Given the description of an element on the screen output the (x, y) to click on. 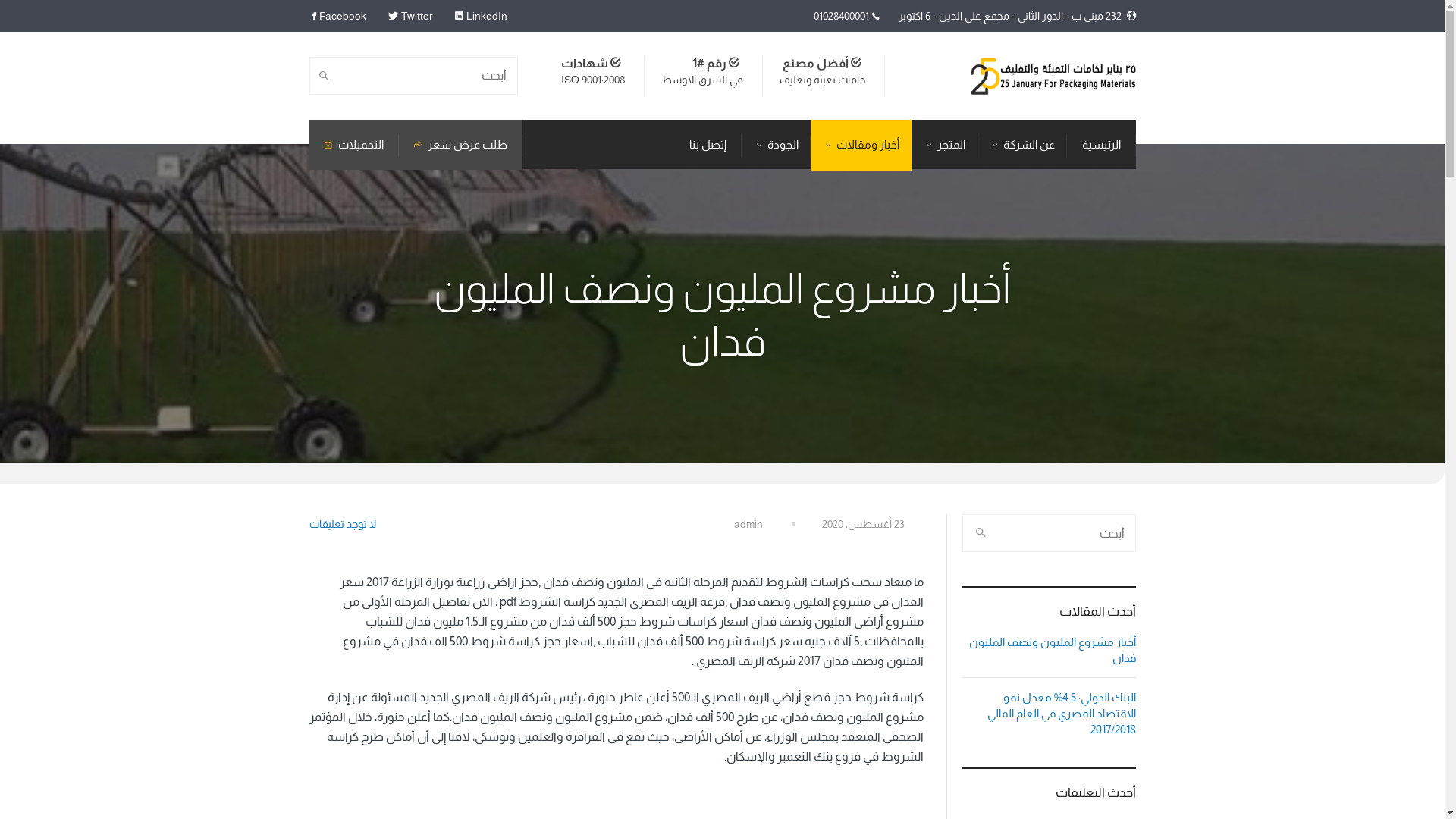
LinkedIn Element type: text (485, 15)
Facebook Element type: text (341, 15)
Twitter Element type: text (416, 15)
Search Element type: text (327, 75)
Search Element type: text (979, 533)
